Given the description of an element on the screen output the (x, y) to click on. 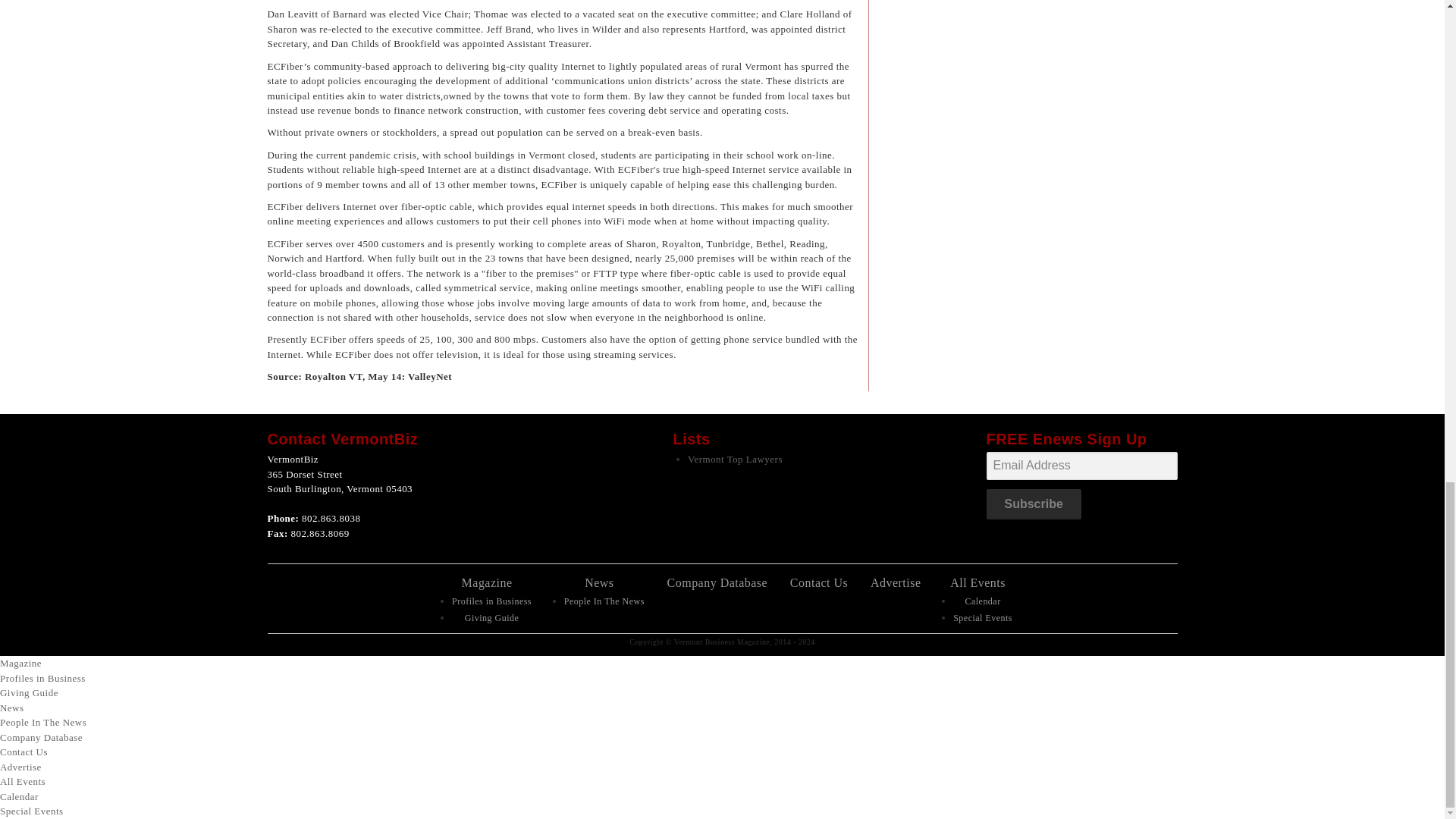
Profiles in Business (491, 601)
Profiles in Business (42, 677)
Subscribe (1032, 503)
People In The News (604, 601)
People In The News (42, 722)
Subscribe (1032, 503)
Giving Guide (29, 692)
Magazine (486, 582)
Magazine (21, 663)
Calendar (981, 601)
Contact Us (818, 582)
Company Database (717, 582)
Vermont Top Lawyers (735, 459)
Advertise (895, 582)
Special Events (982, 617)
